Given the description of an element on the screen output the (x, y) to click on. 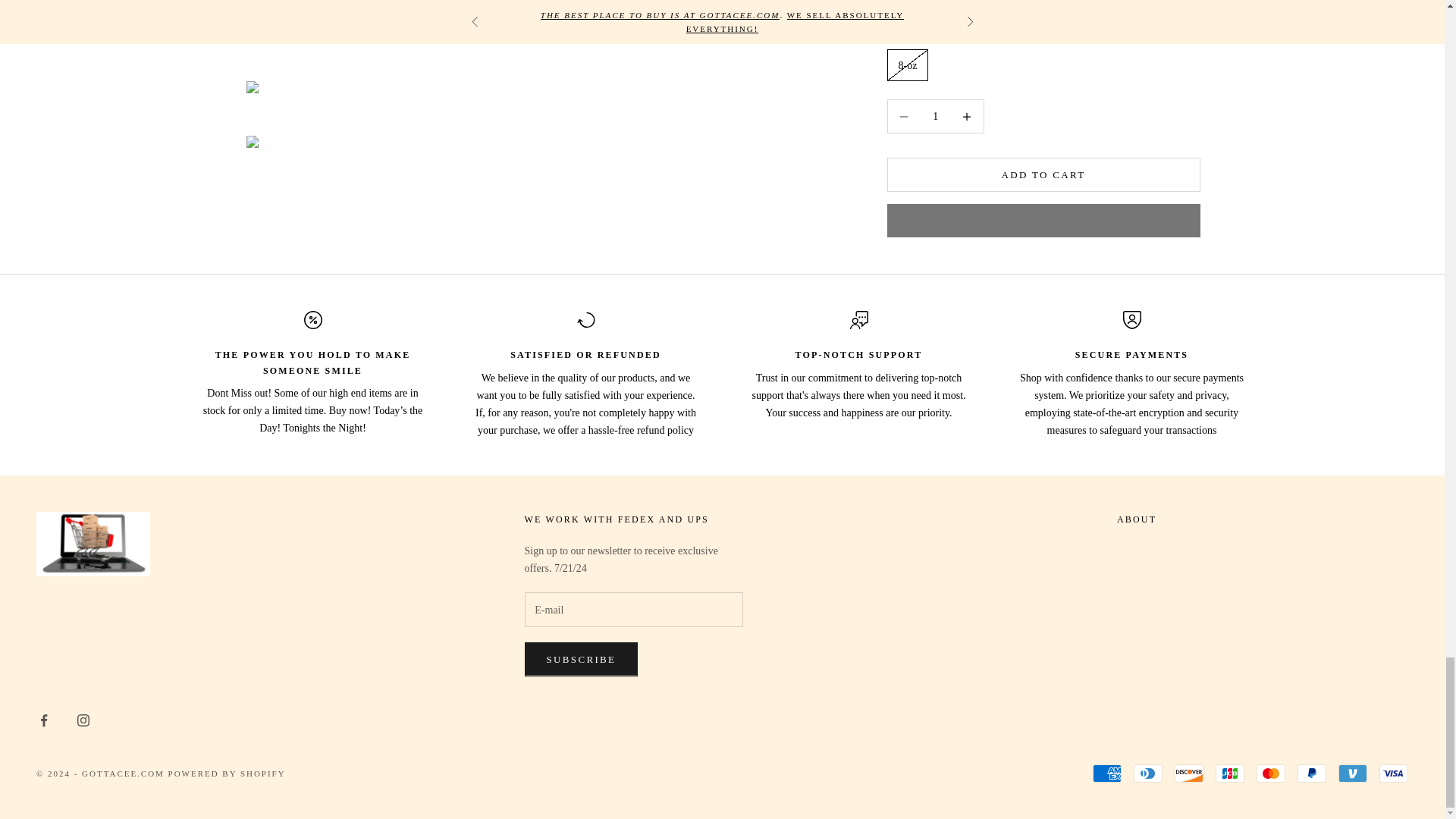
SUBSCRIBE (581, 658)
